Given the description of an element on the screen output the (x, y) to click on. 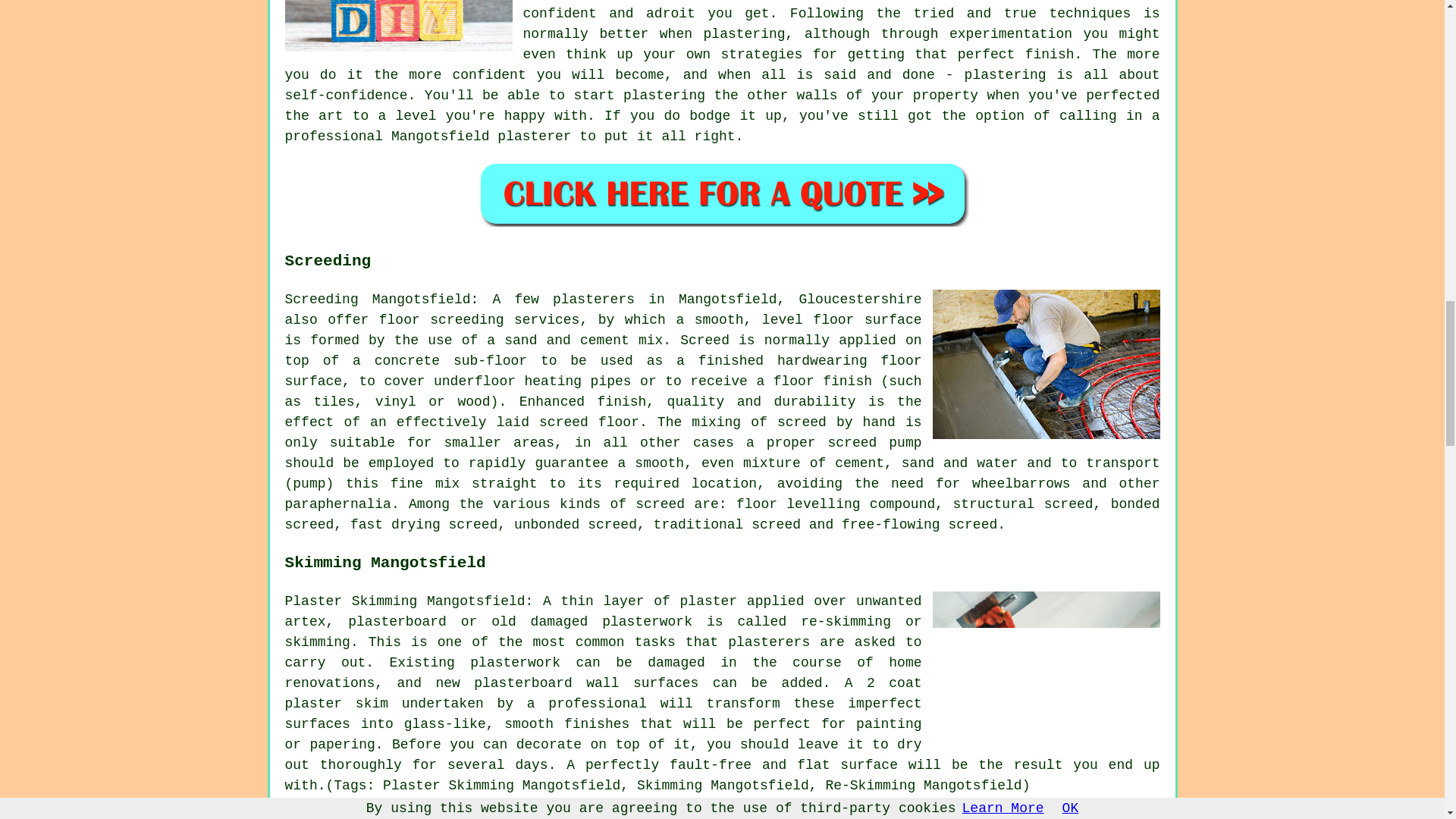
DIY Plastering Mangotsfield UK (398, 25)
Plaster Skimming Mangotsfield (1046, 665)
Screeding Mangotsfield (1046, 363)
